Given the description of an element on the screen output the (x, y) to click on. 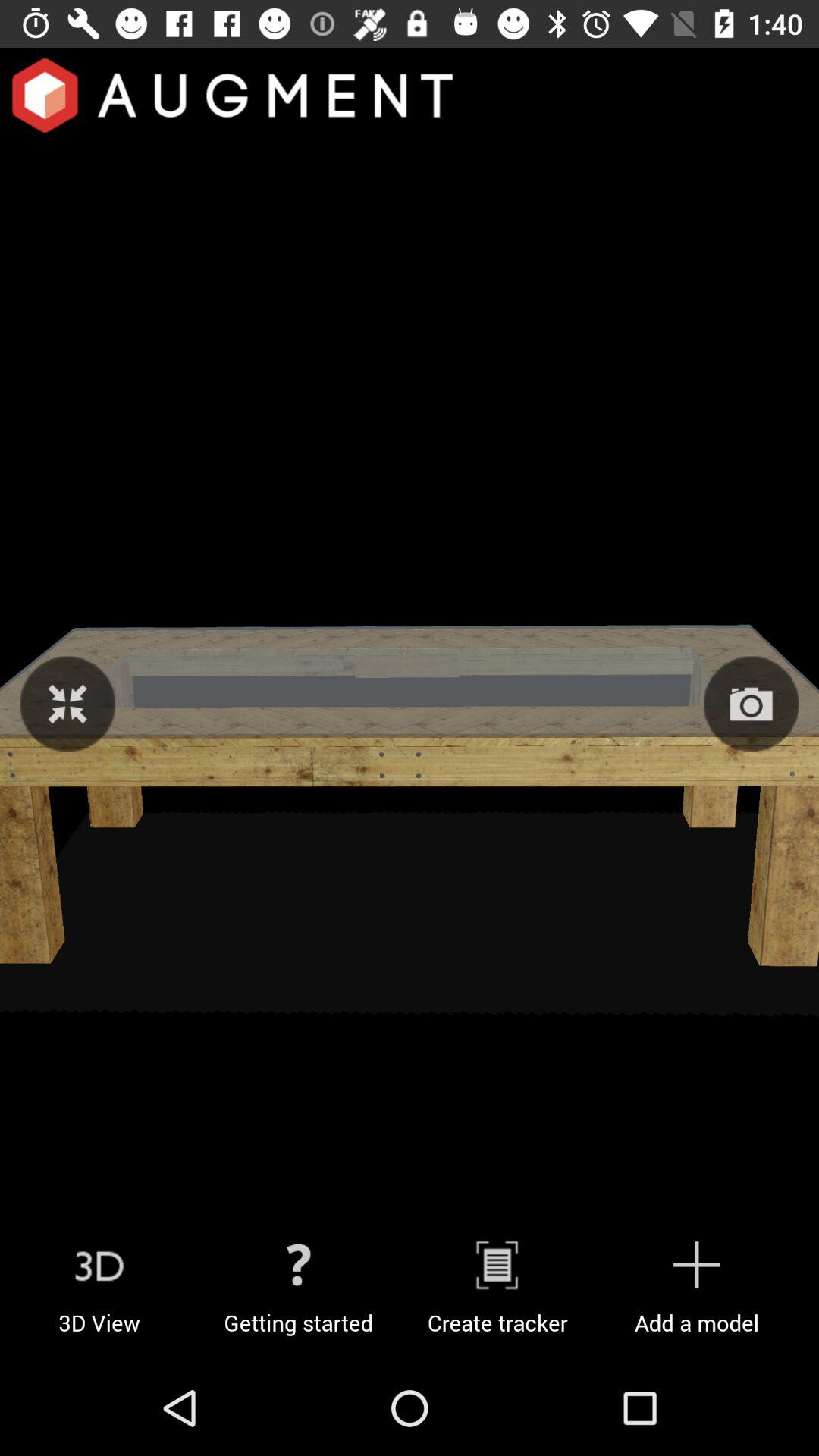
take a photo (751, 703)
